Given the description of an element on the screen output the (x, y) to click on. 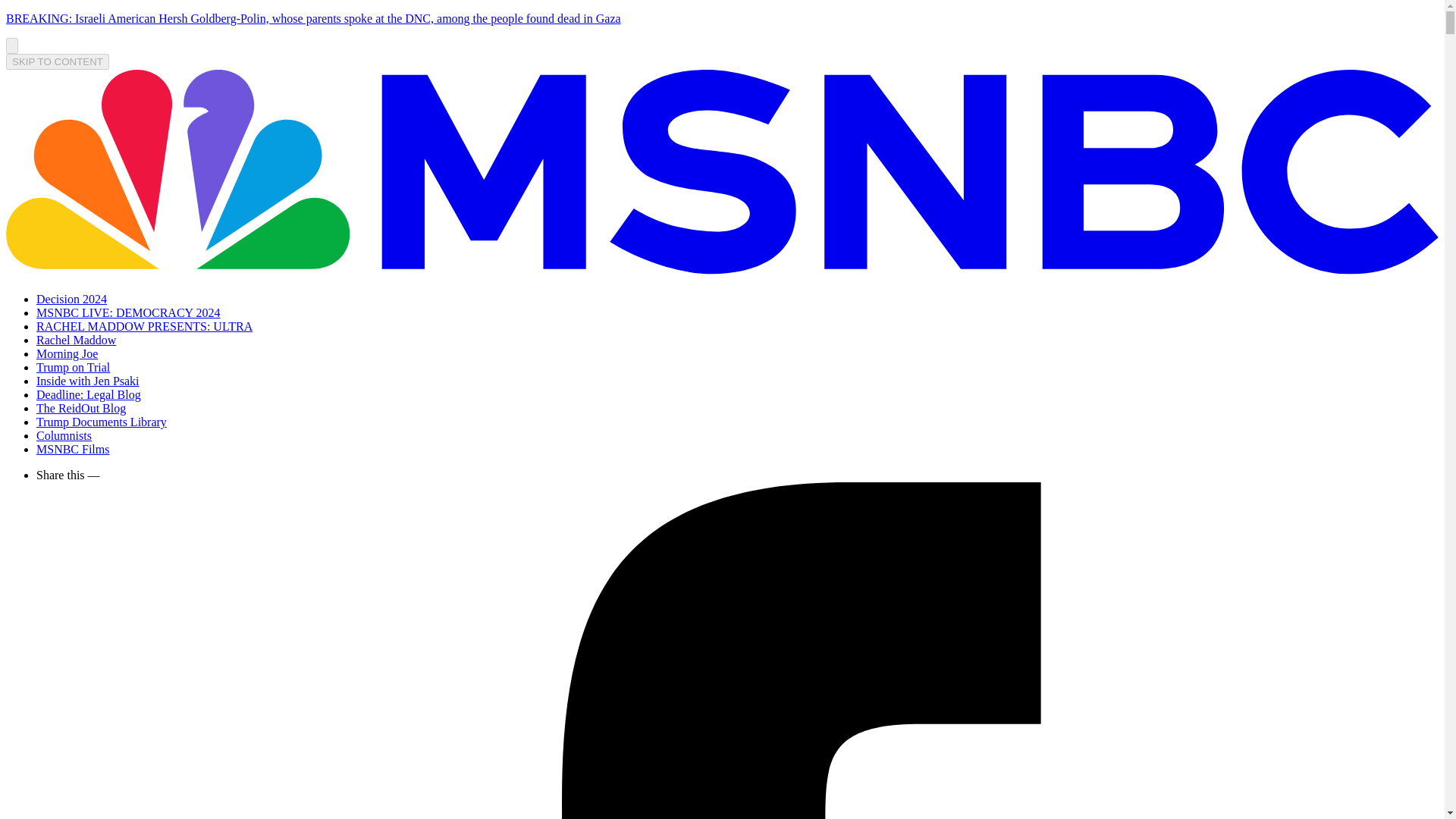
Inside with Jen Psaki (87, 380)
Deadline: Legal Blog (88, 394)
Columnists (63, 435)
The ReidOut Blog (80, 408)
Rachel Maddow (76, 339)
Morning Joe (66, 353)
MSNBC Films (72, 449)
Trump Documents Library (101, 421)
MSNBC LIVE: DEMOCRACY 2024 (128, 312)
